Given the description of an element on the screen output the (x, y) to click on. 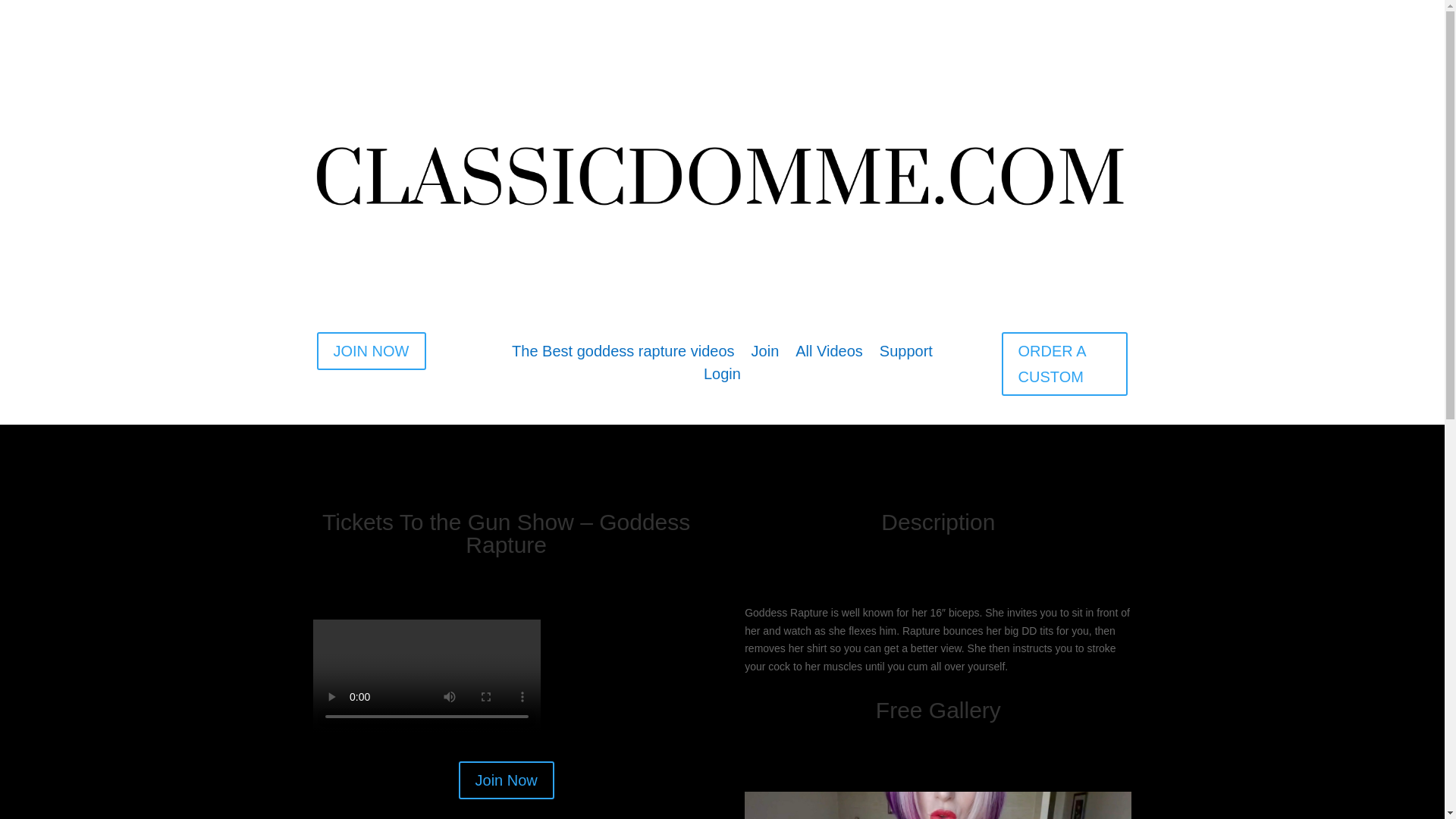
Classic Domme Logo (722, 172)
The Best goddess rapture videos (623, 353)
JOIN NOW (371, 351)
Support (906, 353)
Join Now (506, 780)
ORDER A CUSTOM (1064, 363)
All Videos (828, 353)
Login (722, 376)
Join (764, 353)
